Given the description of an element on the screen output the (x, y) to click on. 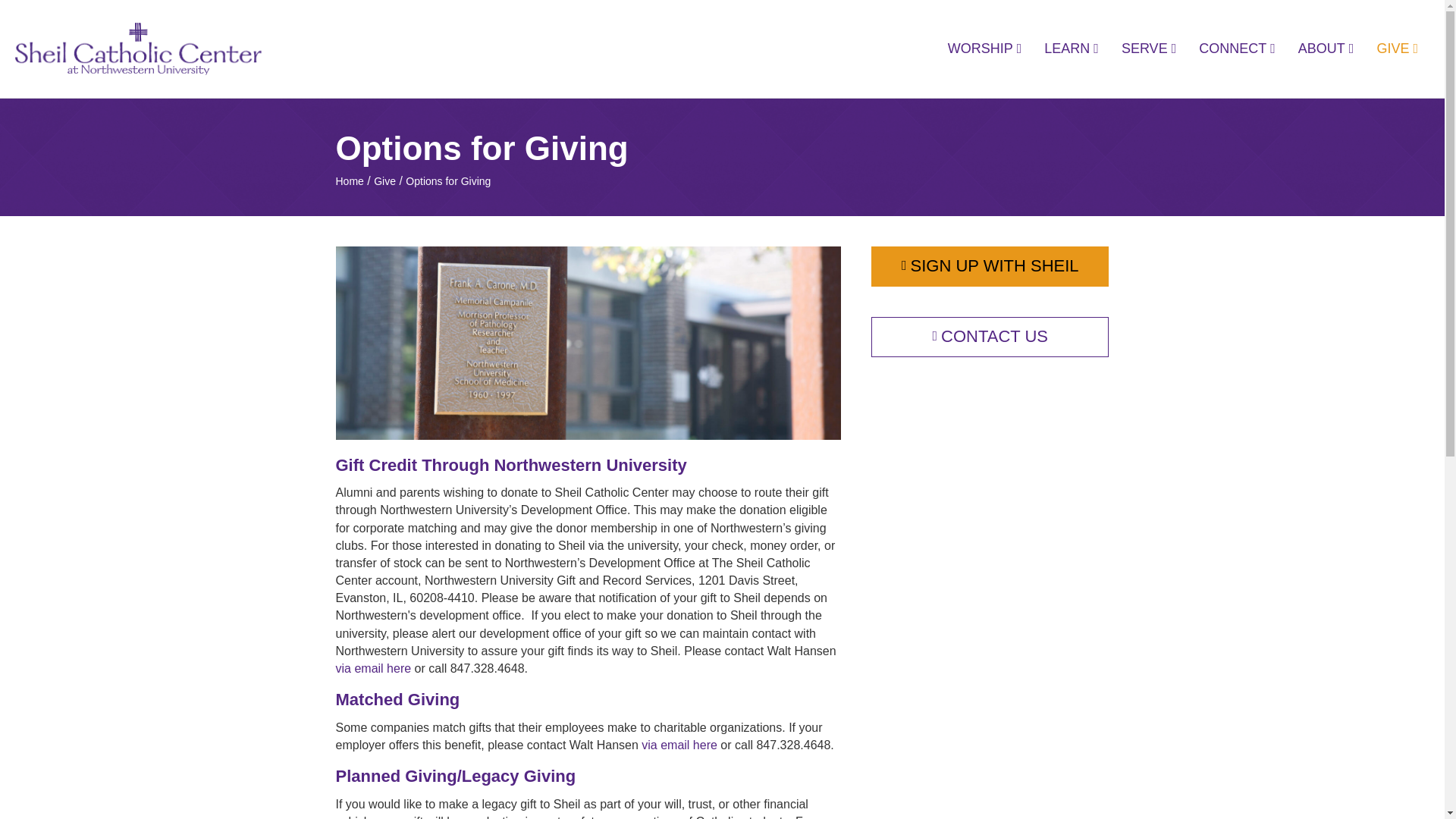
SERVE (1148, 48)
Go to Sheil Catholic Center. (348, 181)
WORSHIP (984, 48)
ABOUT (1326, 48)
Go to Give. (385, 181)
stewardship (587, 342)
CONNECT (1237, 48)
LEARN (1070, 48)
